Given the description of an element on the screen output the (x, y) to click on. 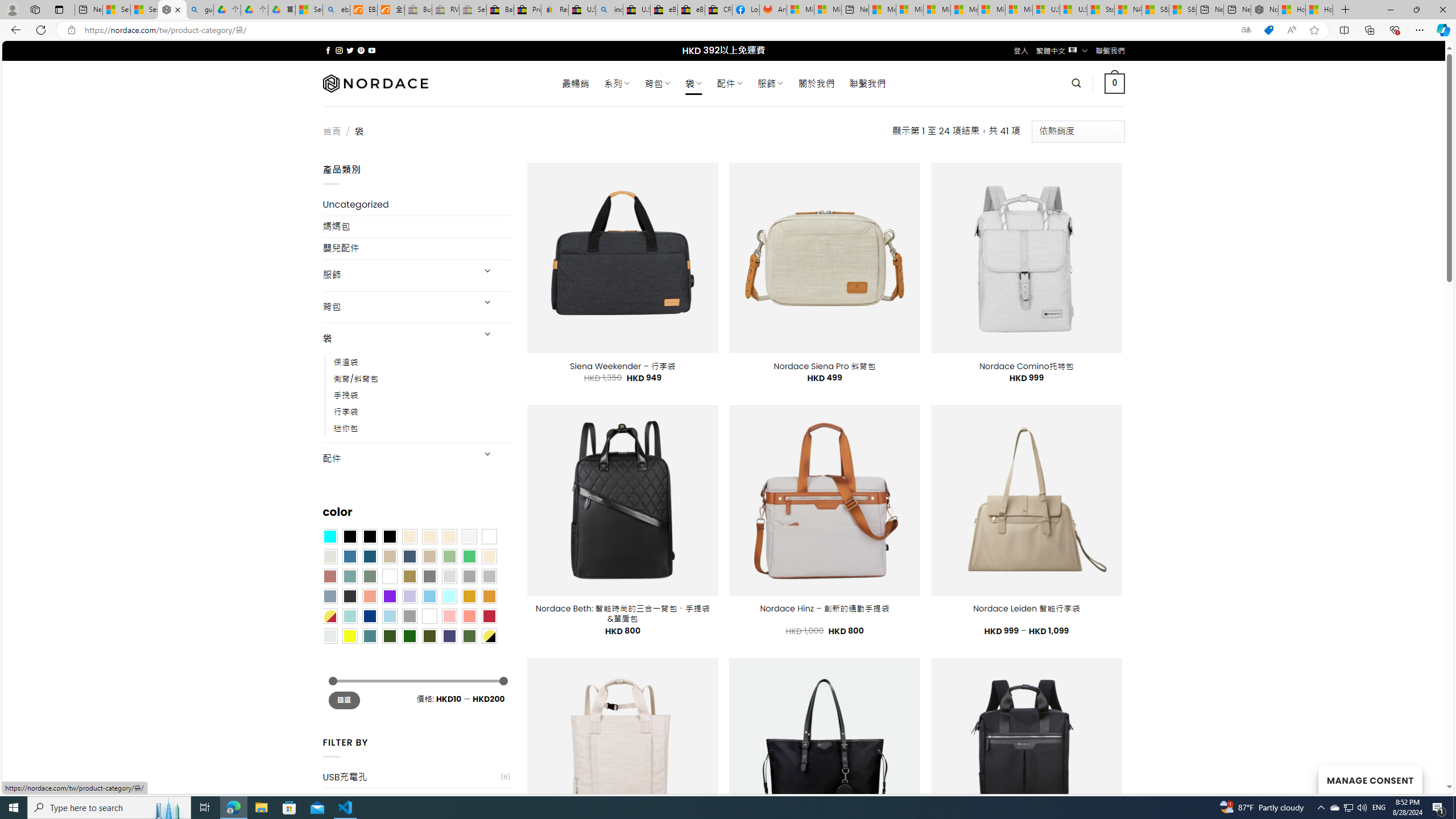
S&P 500, Nasdaq end lower, weighed by Nvidia dip | Watch (1182, 9)
